Given the description of an element on the screen output the (x, y) to click on. 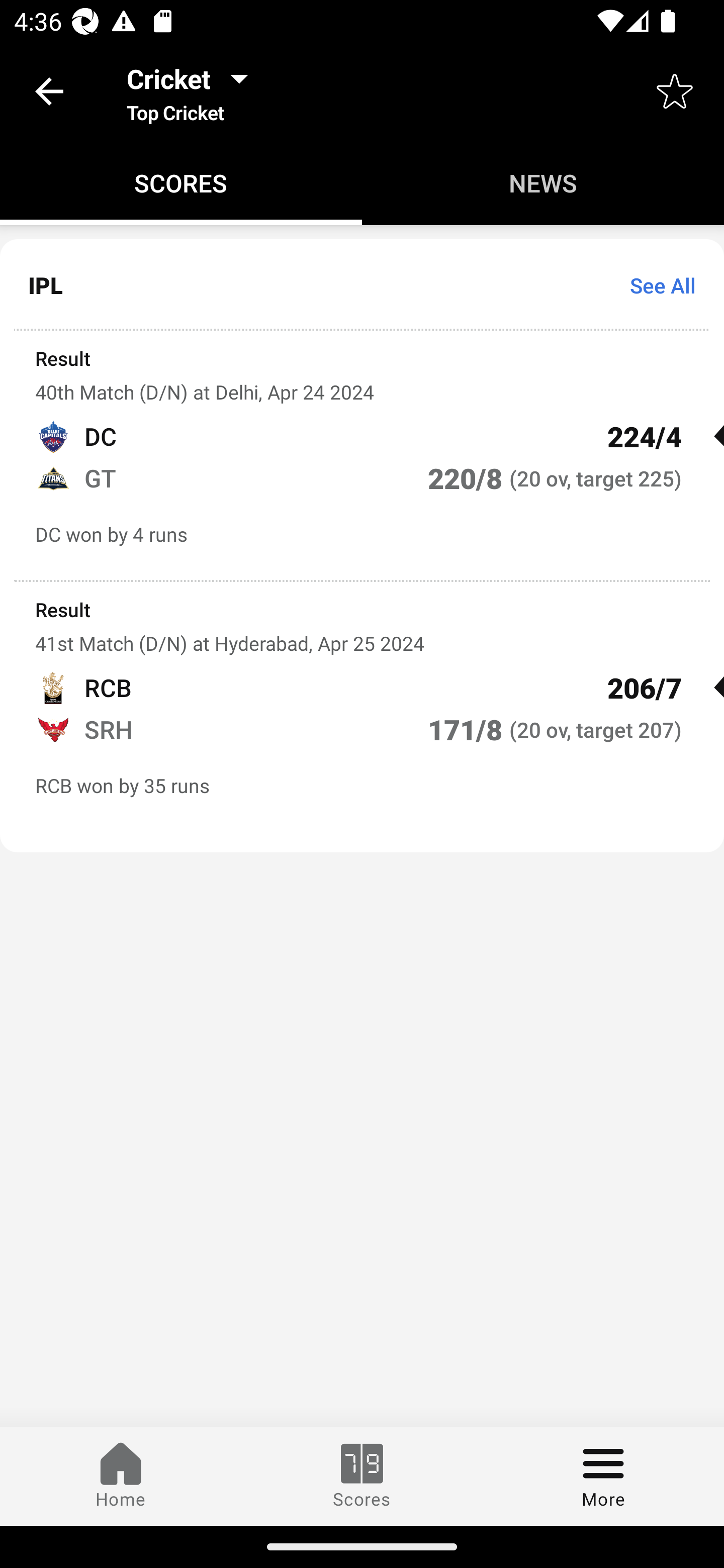
Cricket Top Cricket (193, 90)
Favorite toggle (674, 90)
News NEWS (543, 183)
IPL See All (362, 284)
See All (655, 285)
Home (120, 1475)
Scores (361, 1475)
